Given the description of an element on the screen output the (x, y) to click on. 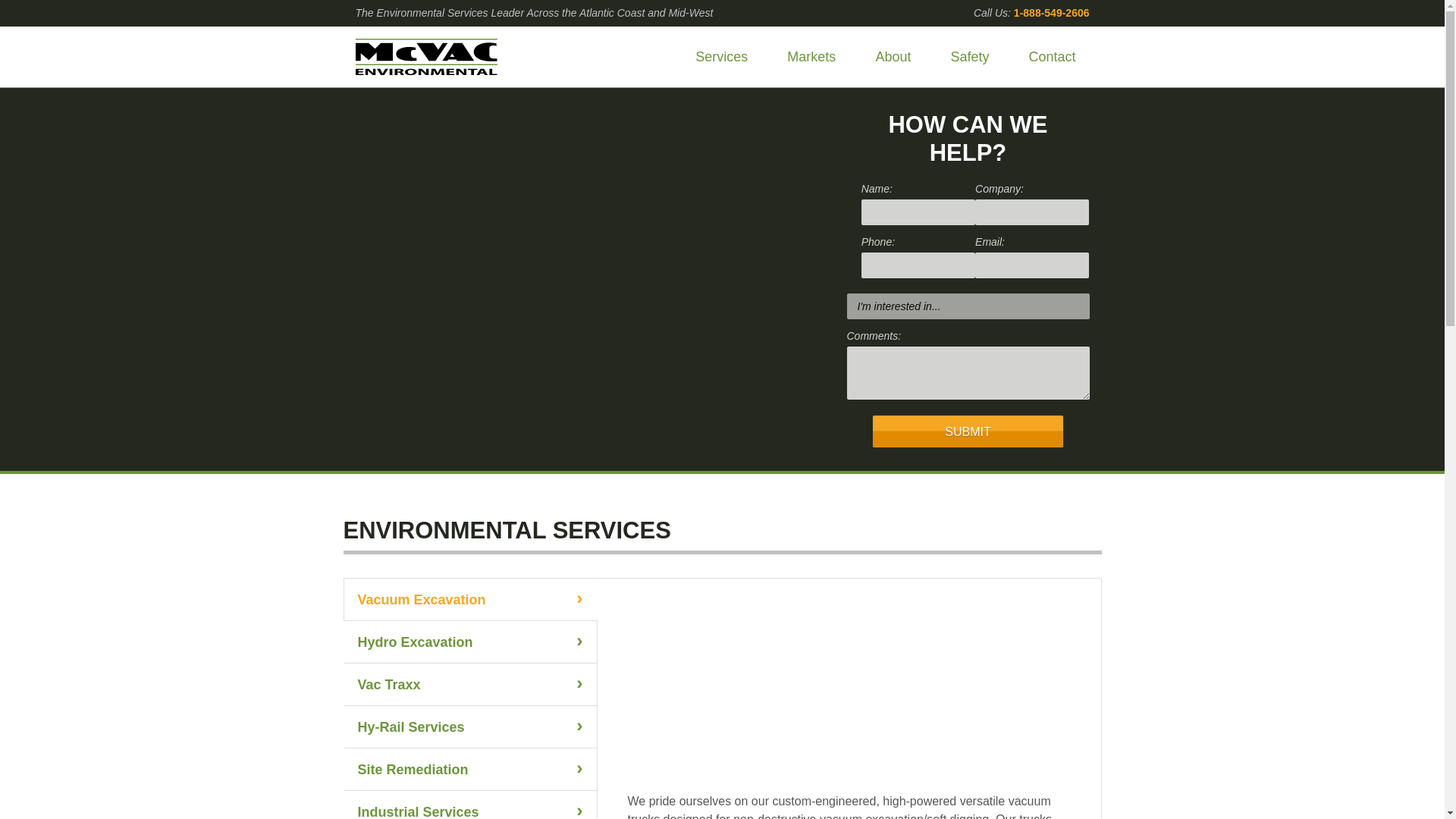
SUBMIT (968, 430)
Hydro Excavation (468, 641)
McVac Environmental (425, 56)
Vacuum Excavation (468, 599)
About (892, 56)
1-888-549-2606 (1051, 13)
Hy-Rail Services (468, 726)
SUBMIT (968, 430)
Contact (1051, 56)
Site Remediation (468, 769)
Industrial Services (468, 805)
Services (721, 56)
Vac Traxx (468, 684)
Markets (810, 56)
Safety (969, 56)
